Given the description of an element on the screen output the (x, y) to click on. 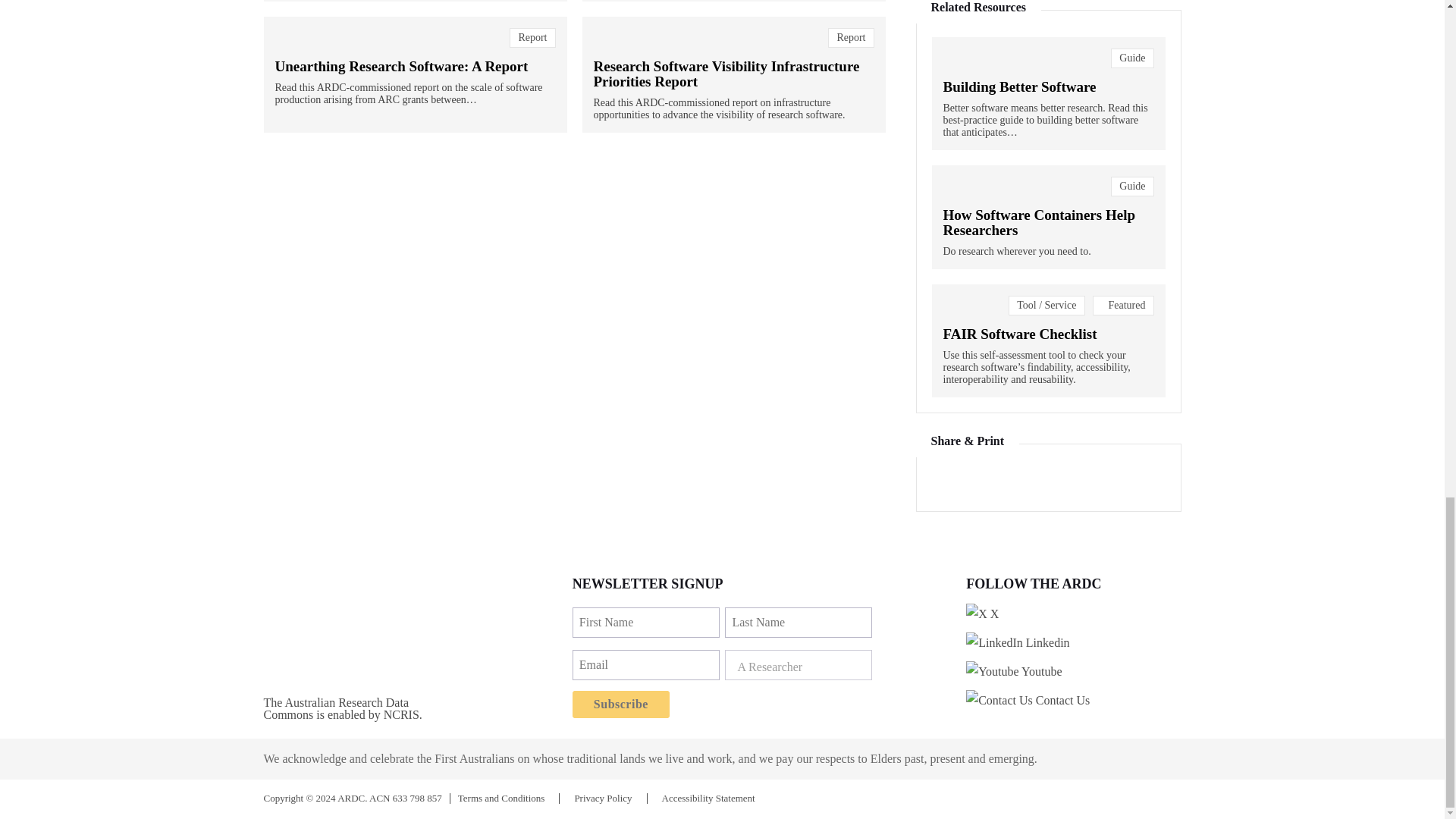
Subscribe (620, 704)
Share on Facebook (1026, 481)
Share on LinkedIn (986, 481)
Print this Page (1066, 481)
Share on Twitter (945, 481)
Share via Email (1106, 481)
